Given the description of an element on the screen output the (x, y) to click on. 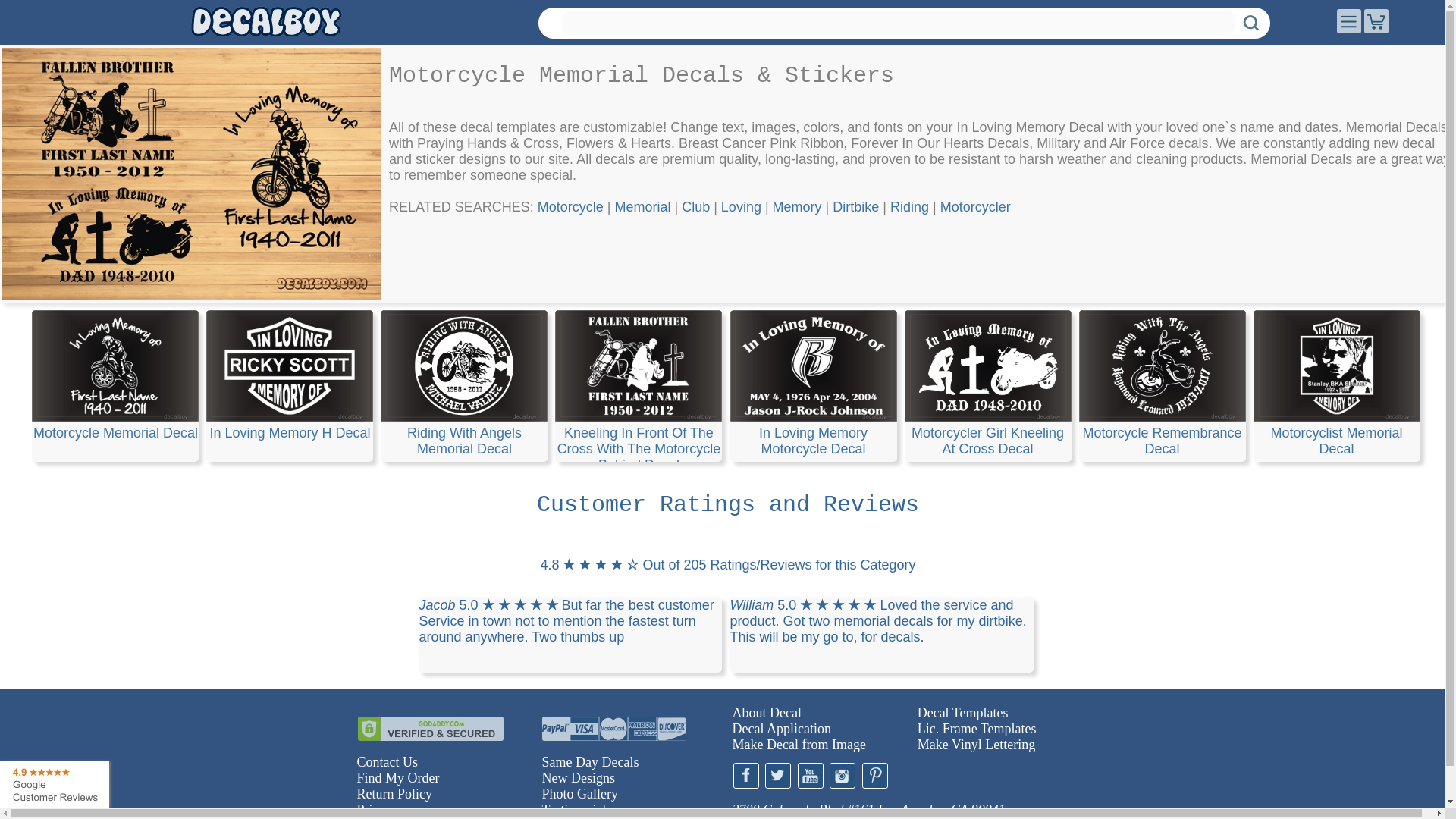
YouTube (810, 775)
Twitter (777, 775)
Pinterest (873, 775)
Instagram (842, 775)
Facebook (745, 775)
